Given the description of an element on the screen output the (x, y) to click on. 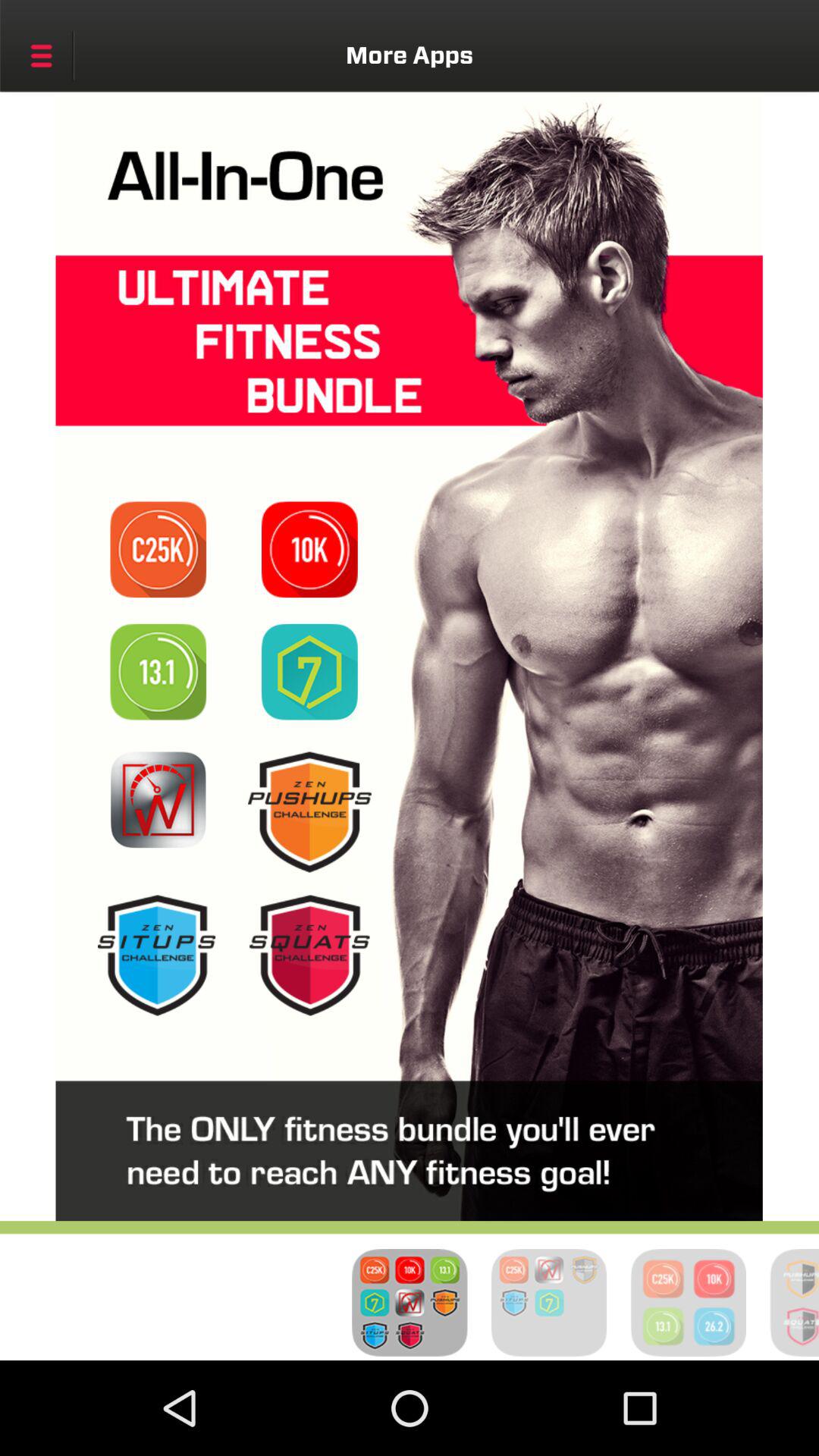
select bundle (309, 671)
